Given the description of an element on the screen output the (x, y) to click on. 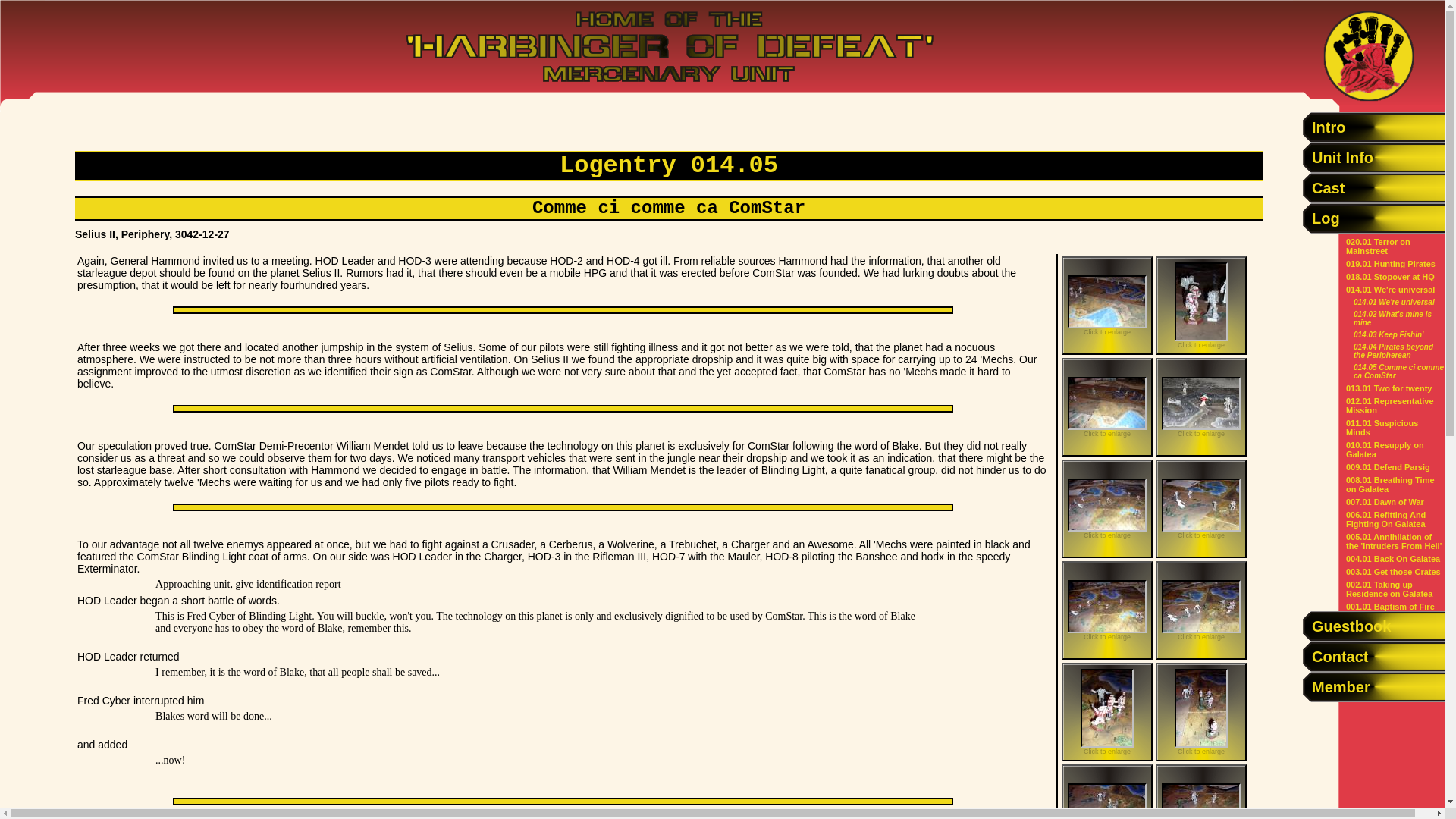
014.01 We're universal (1394, 302)
Click to enlarge (1201, 305)
Click to enlarge (1201, 711)
005.01 Annihilation of the 'Intruders From Hell' (1393, 541)
Click to enlarge (1201, 508)
009.01 Defend Parsig (1387, 466)
Click to enlarge (1107, 610)
Click to enlarge (1201, 406)
Click to enlarge (1107, 305)
Click to enlarge (1201, 610)
Click to enlarge (1107, 791)
020.01 Terror on Mainstreet (1377, 246)
010.01 Resupply on Galatea (1384, 449)
014.01 We're universal (1389, 289)
003.01 Get those Crates (1393, 571)
